Given the description of an element on the screen output the (x, y) to click on. 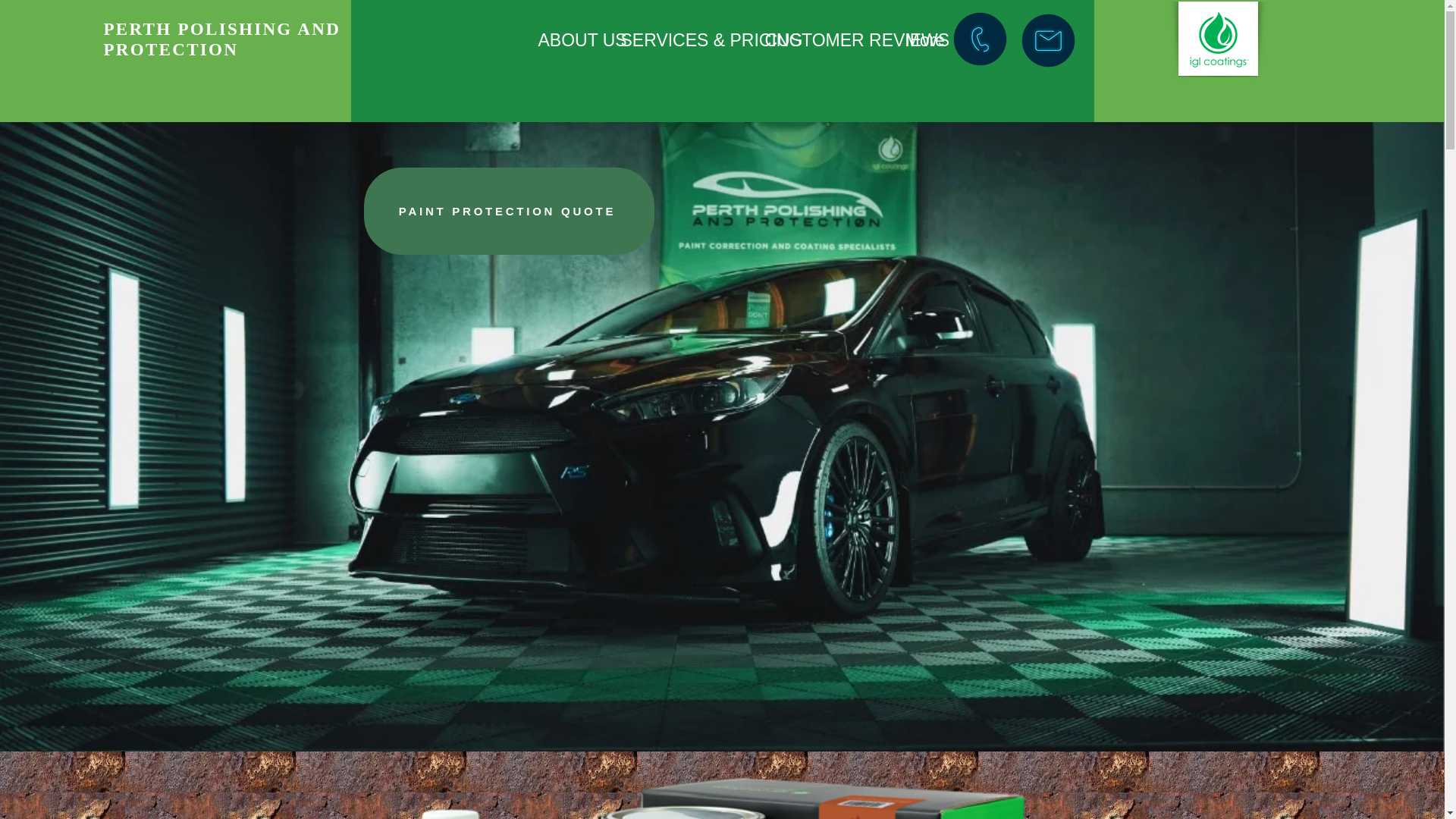
CUSTOMER REVIEWS (823, 40)
PAINT PROTECTION QUOTE (508, 210)
ABOUT US (566, 40)
